Given the description of an element on the screen output the (x, y) to click on. 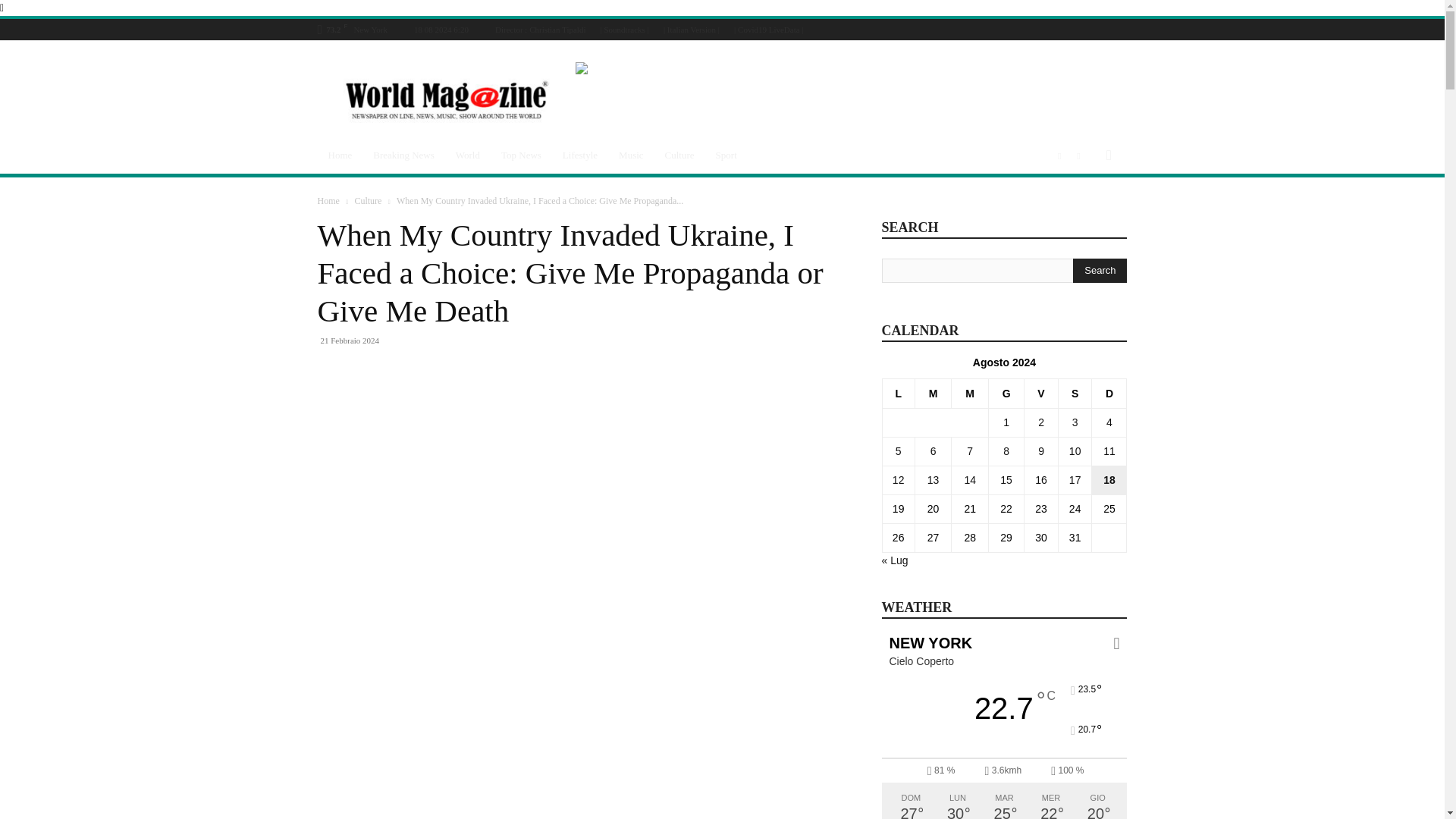
Search (1083, 215)
Search (1099, 270)
Culture (678, 155)
Sport (726, 155)
Home (328, 200)
World (467, 155)
Lifestyle (579, 155)
Culture (367, 200)
Top News (520, 155)
Home (339, 155)
